Given the description of an element on the screen output the (x, y) to click on. 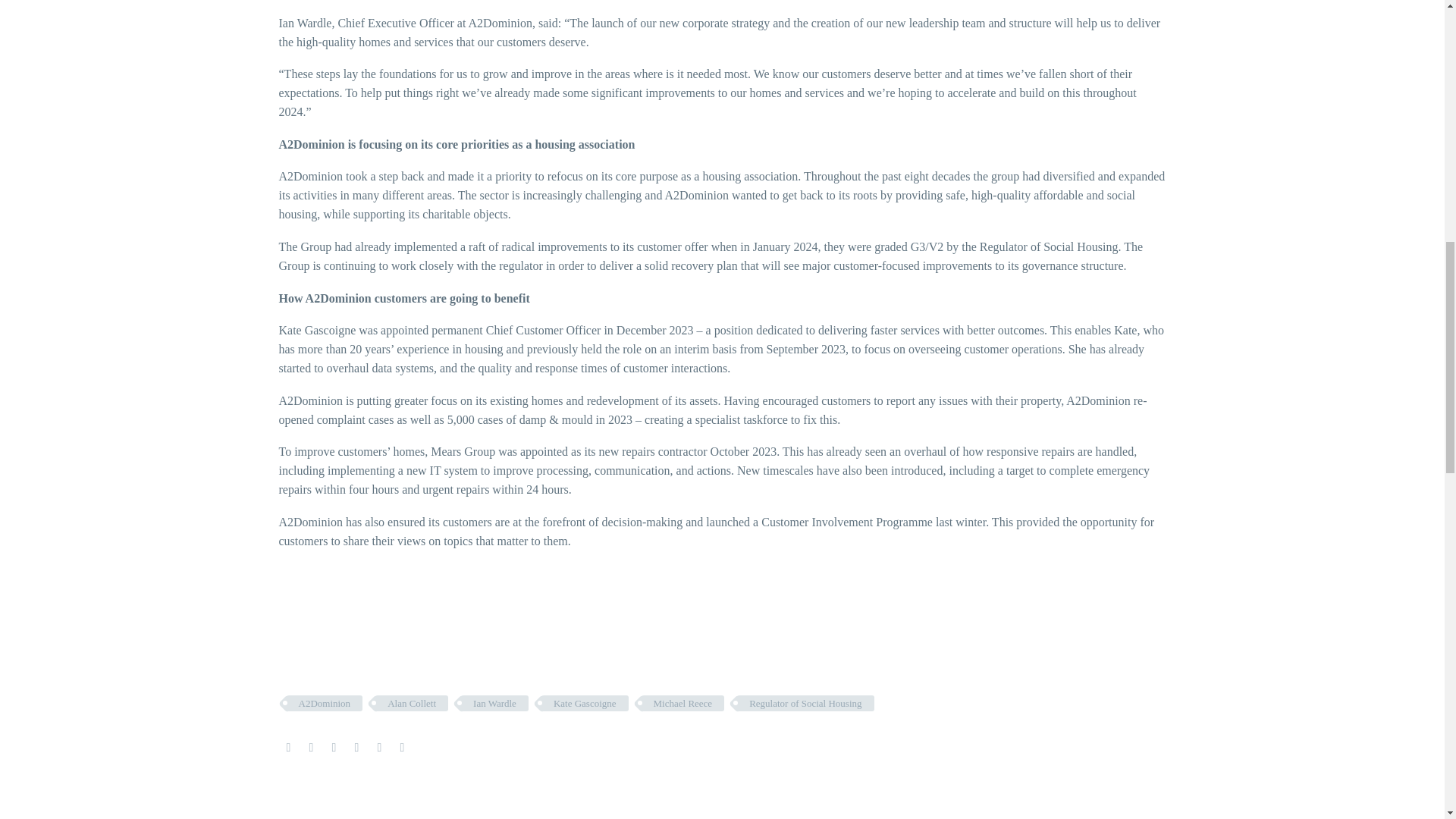
Michael Reece (683, 703)
Alan Collett (411, 703)
Tumblr (356, 747)
Twitter (310, 747)
Pinterest (333, 747)
LinkedIn (378, 747)
Kate Gascoigne (584, 703)
Ian Wardle (494, 703)
A2Dominion (324, 703)
Facebook (288, 747)
